Given the description of an element on the screen output the (x, y) to click on. 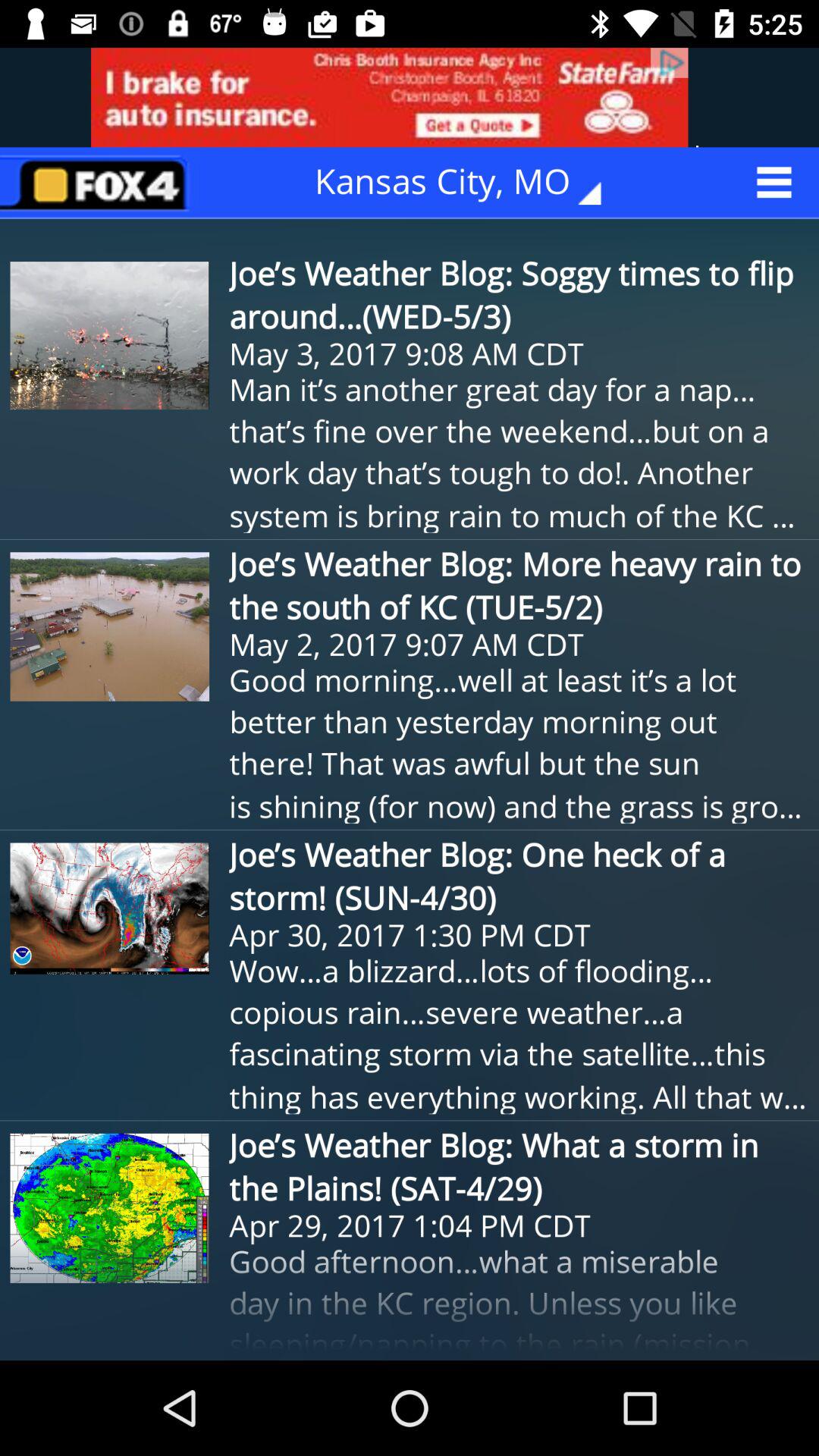
return to homepage (99, 182)
